Given the description of an element on the screen output the (x, y) to click on. 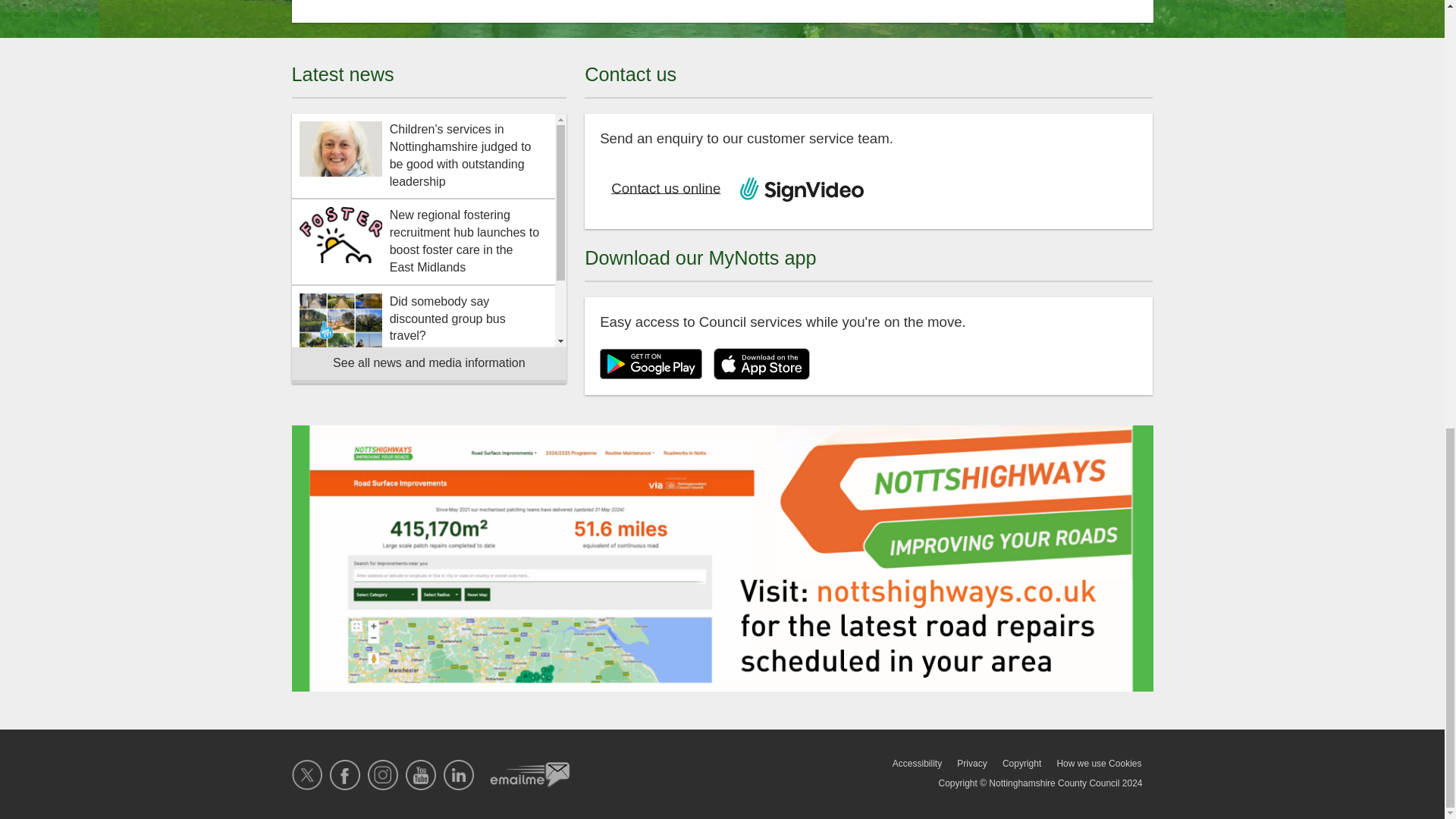
Visit our Linkedin page (459, 775)
Copyright (1022, 763)
Privacy (971, 763)
Visit our YouTube channel (420, 775)
See all news and media information (428, 365)
Copyright (1022, 763)
Visit our Instagram page (382, 775)
Privacy (971, 763)
Contact us online (663, 189)
More News and updates (428, 365)
Did somebody say discounted group bus travel? (422, 321)
Accessibility (917, 763)
Visit our Facebook page (344, 775)
